Given the description of an element on the screen output the (x, y) to click on. 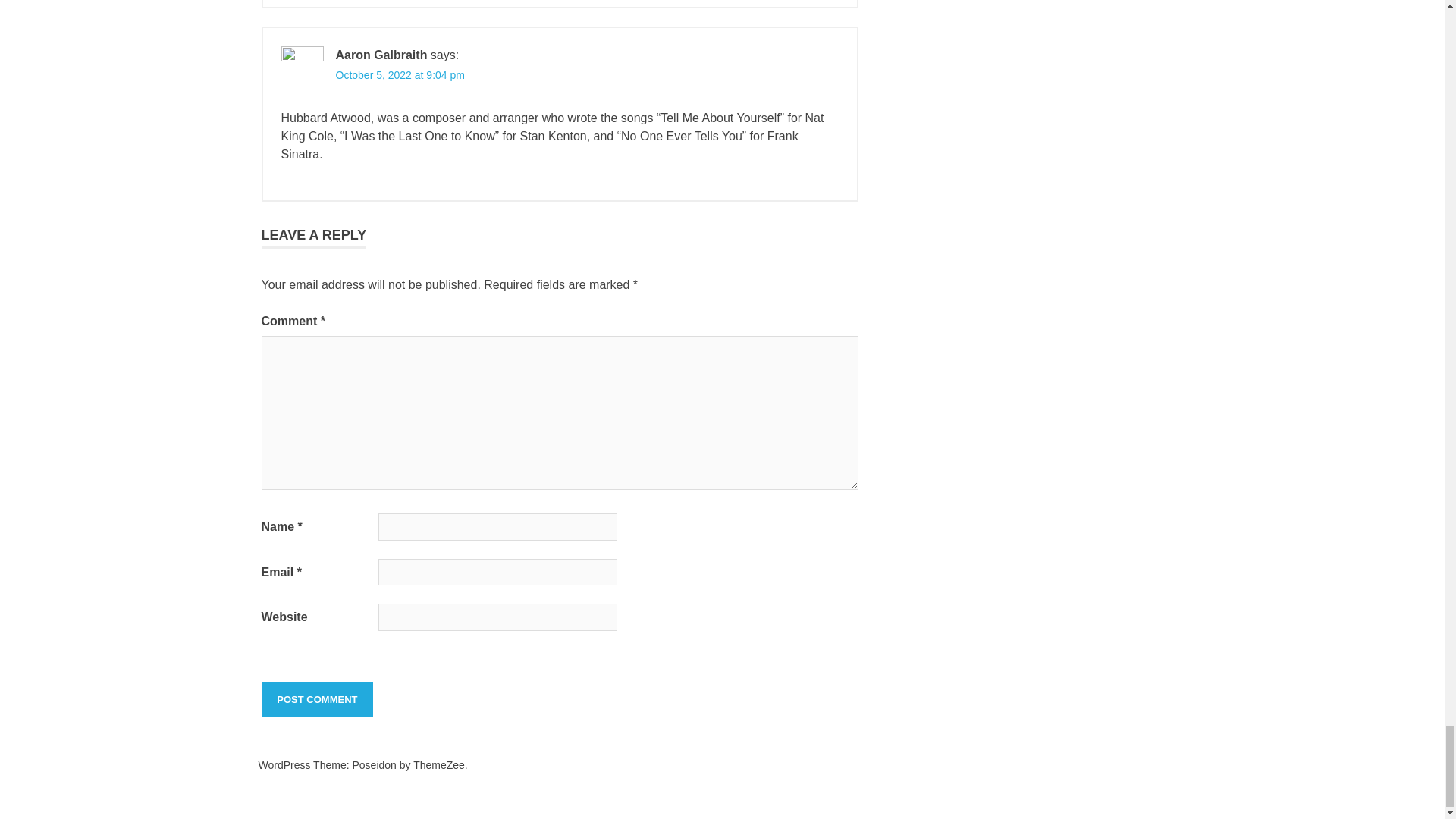
Post Comment (316, 699)
